Given the description of an element on the screen output the (x, y) to click on. 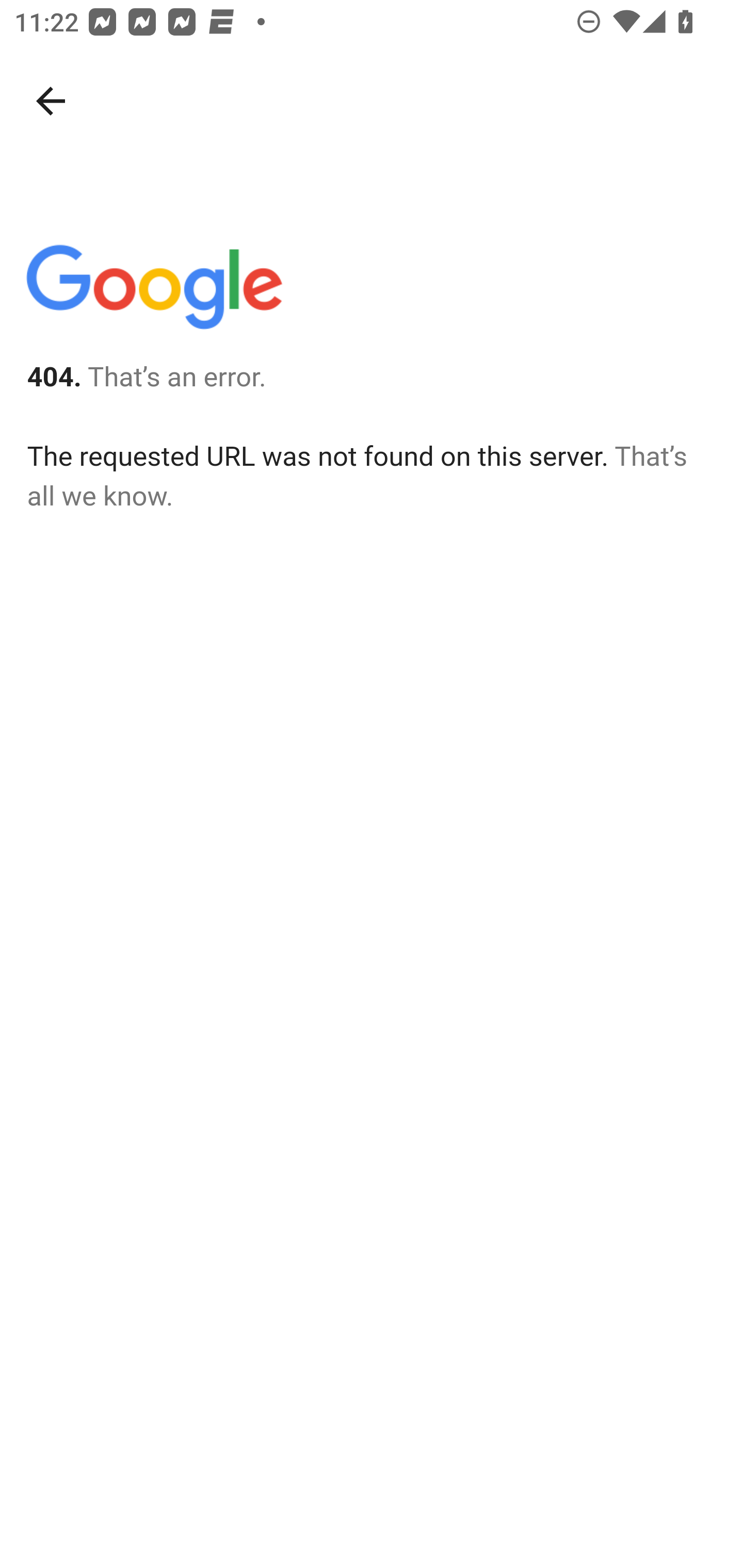
Navigate up (50, 101)
Google (153, 291)
